Given the description of an element on the screen output the (x, y) to click on. 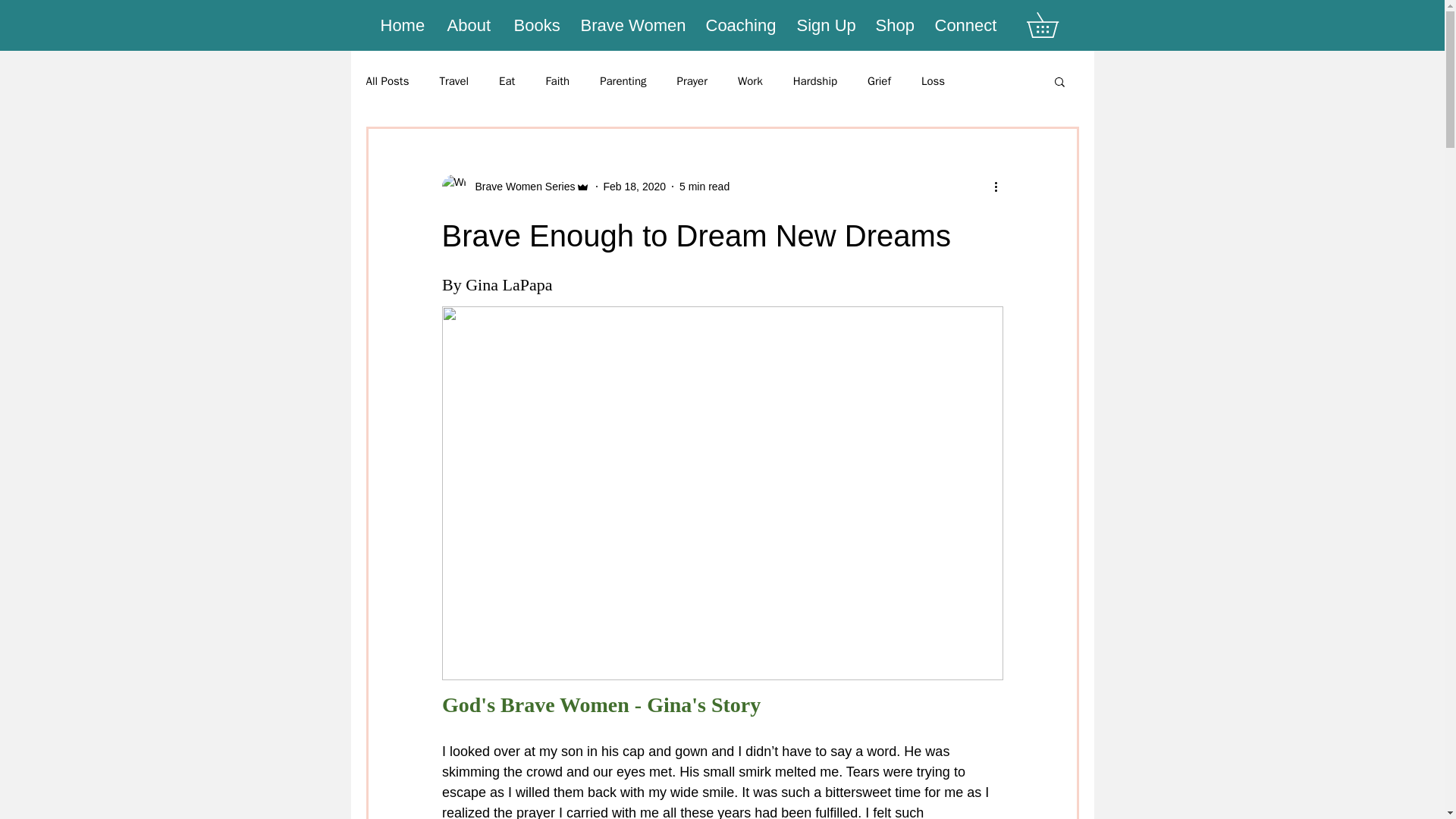
Home (402, 25)
Sign Up (825, 25)
Connect (965, 25)
Brave Women (632, 25)
Loss (932, 81)
5 min read (704, 186)
About (469, 25)
Eat (507, 81)
Brave Women Series (520, 186)
Parenting (622, 81)
